Given the description of an element on the screen output the (x, y) to click on. 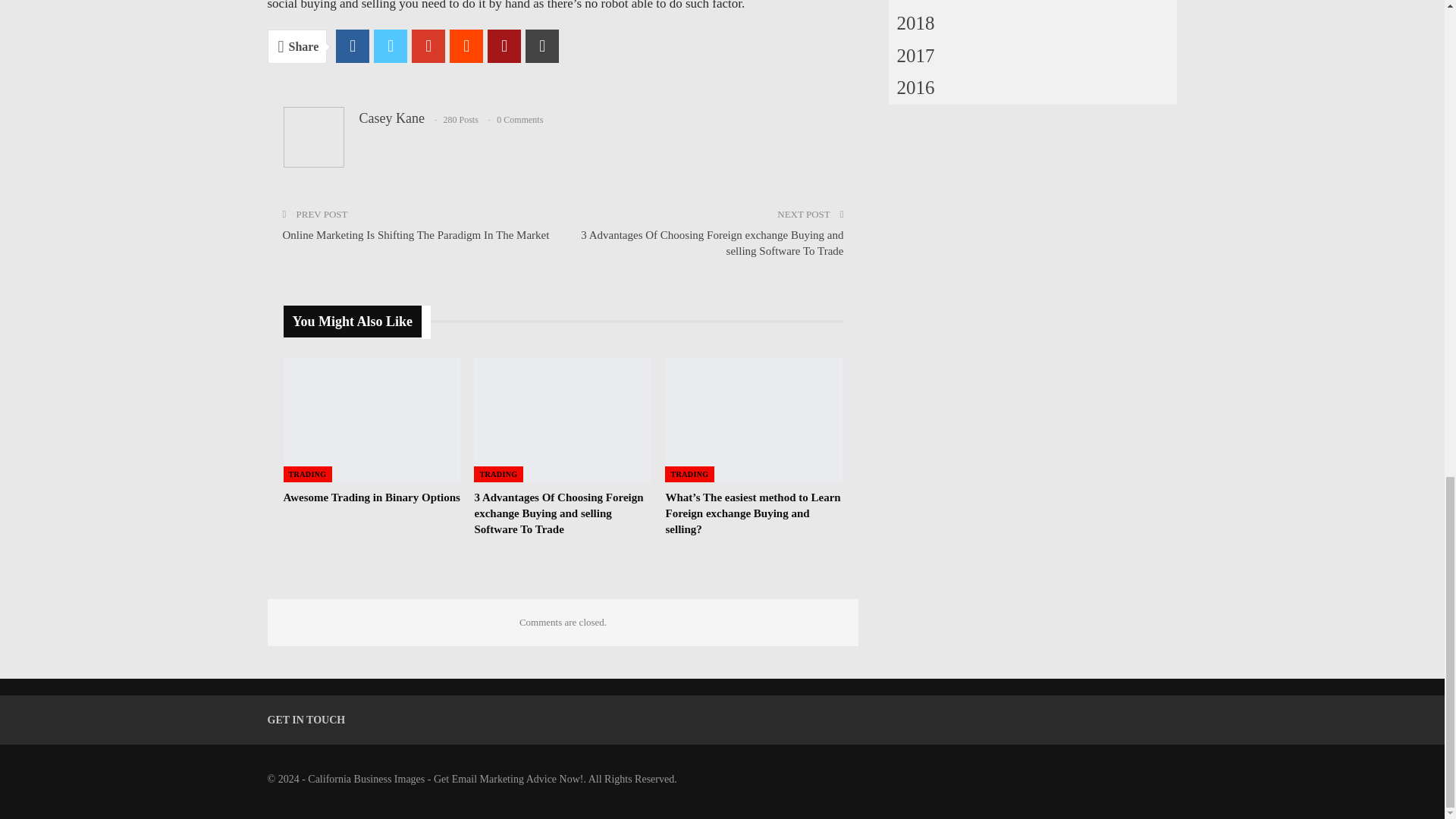
Awesome Trading in Binary Options (371, 497)
Online Marketing Is Shifting The Paradigm In The Market (415, 234)
Awesome Trading in Binary Options (372, 419)
Casey Kane (392, 118)
